Given the description of an element on the screen output the (x, y) to click on. 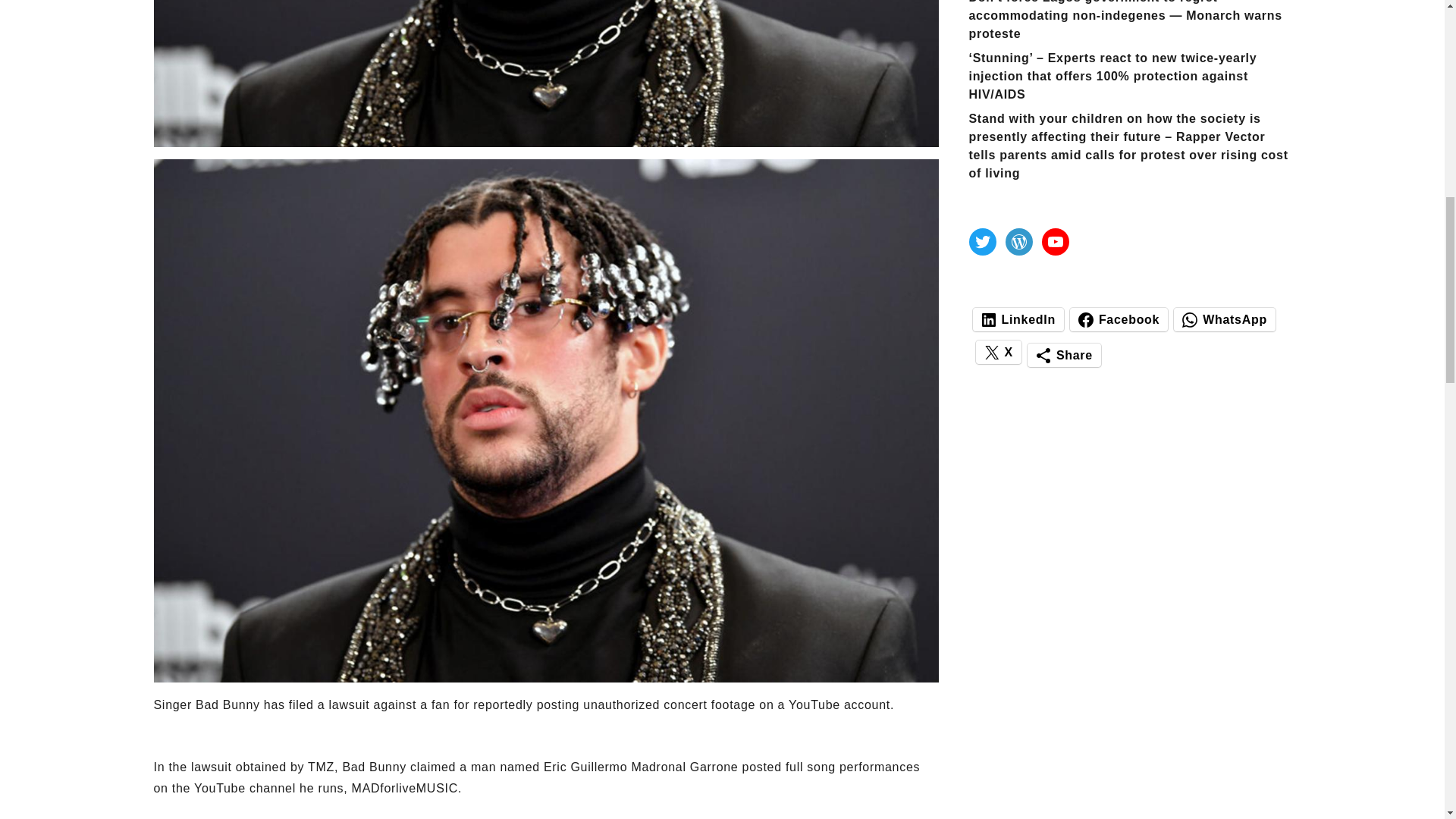
Advertisement (544, 813)
